Given the description of an element on the screen output the (x, y) to click on. 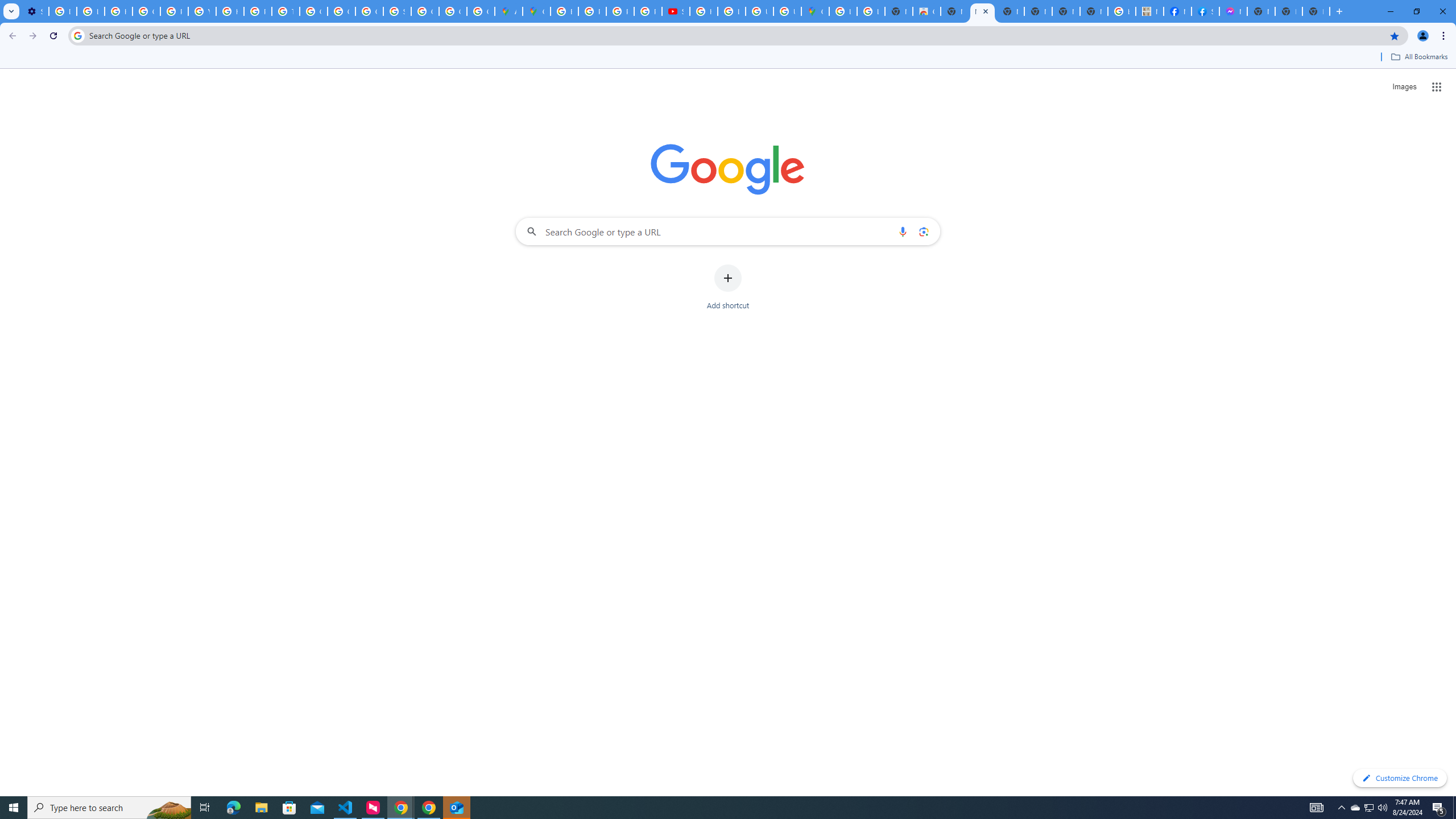
Google Account Help (146, 11)
Search Google or type a URL (727, 230)
New Tab (1316, 11)
Privacy Help Center - Policies Help (174, 11)
MILEY CYRUS. (1150, 11)
Subscriptions - YouTube (675, 11)
Google Maps (536, 11)
